Given the description of an element on the screen output the (x, y) to click on. 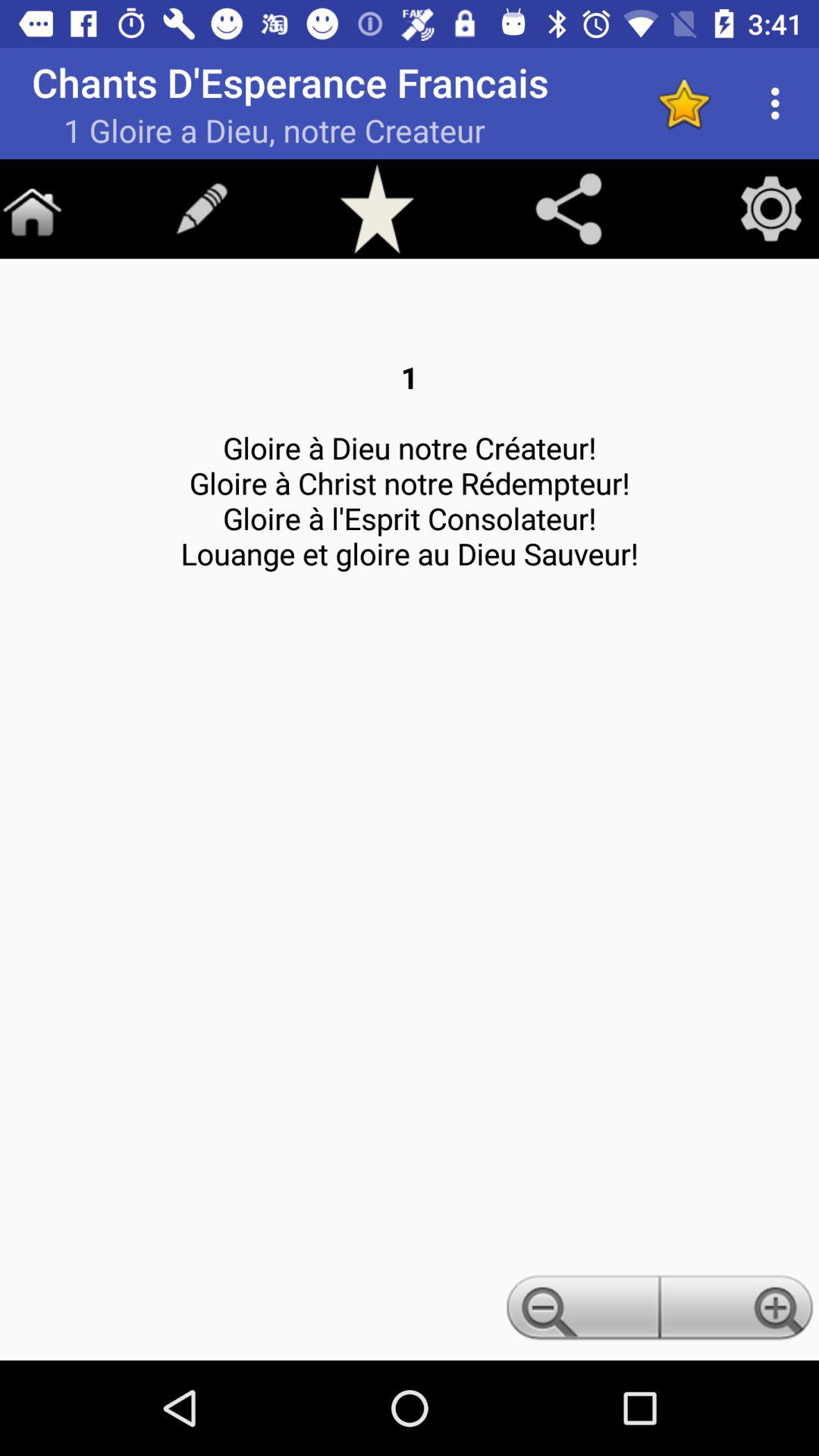
go to favorite (377, 208)
